Given the description of an element on the screen output the (x, y) to click on. 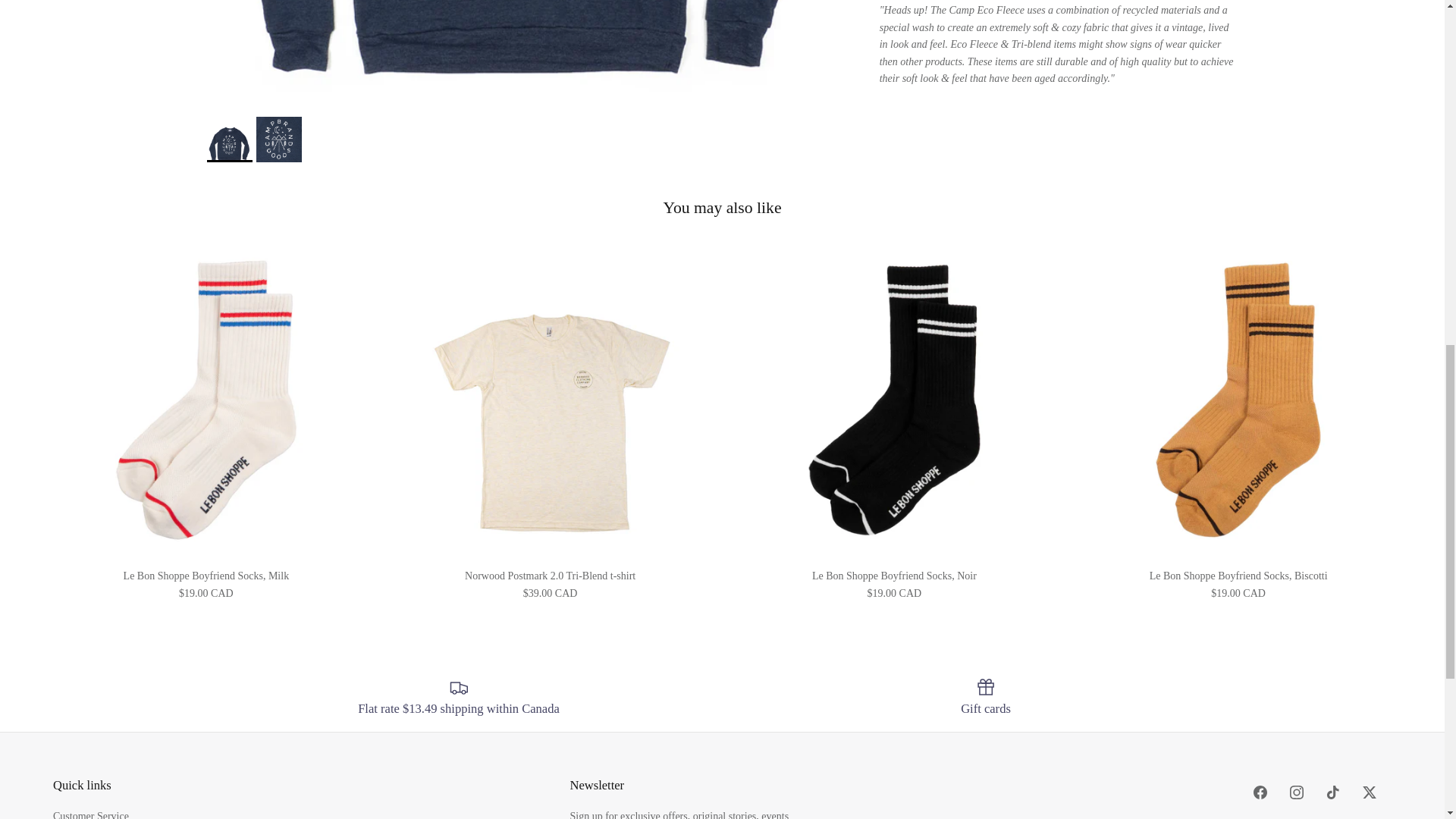
Norwood on TikTok (1332, 792)
Norwood on Twitter (1368, 792)
Norwood on Facebook (1259, 792)
Norwood on Instagram (1296, 792)
